Given the description of an element on the screen output the (x, y) to click on. 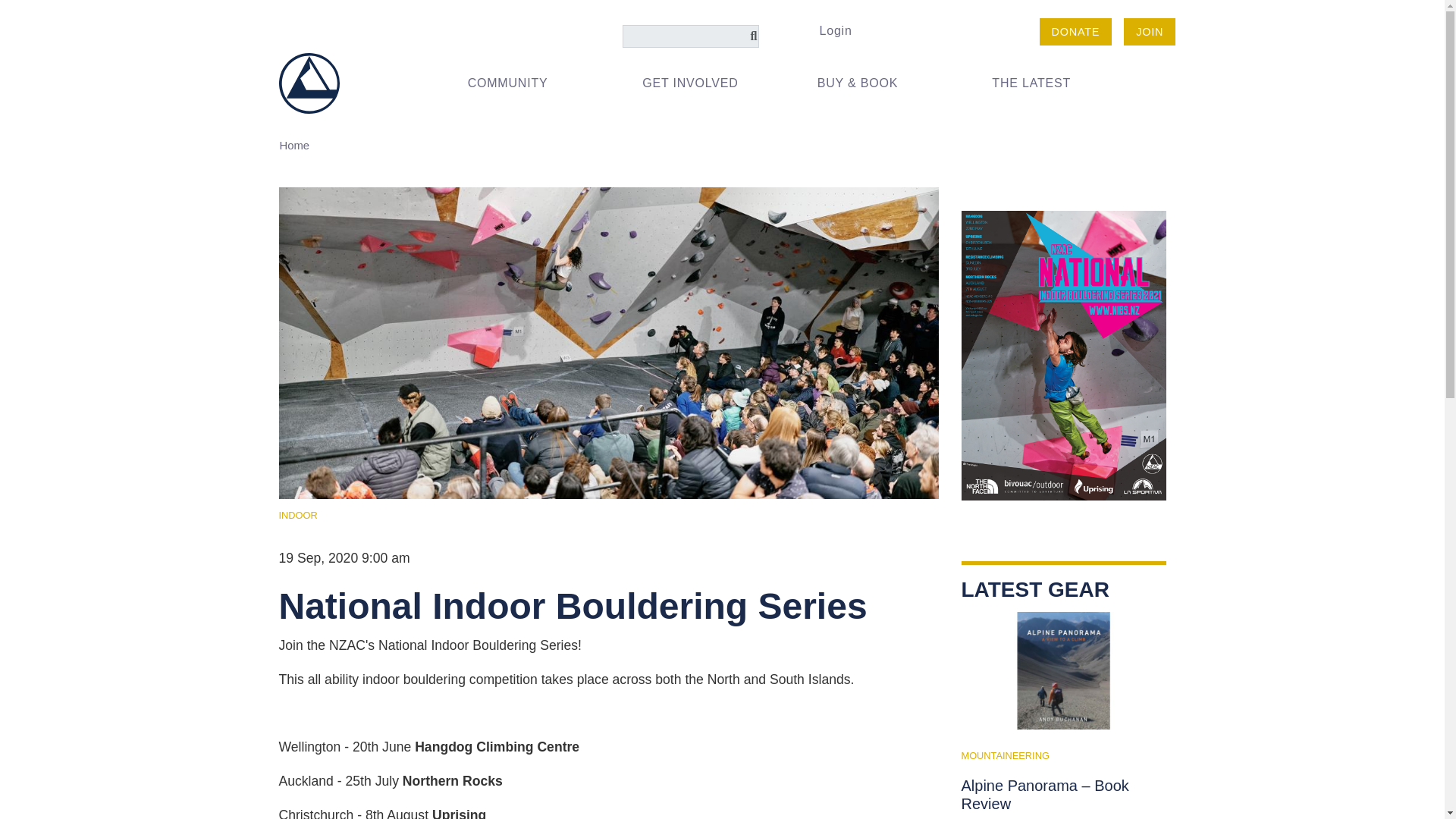
COMMUNITY (522, 82)
Alpine Panorama (1063, 669)
THE LATEST (1045, 82)
Everything you need to know about NZAC and its activities (522, 82)
Login (834, 30)
nzac-logo-header (309, 83)
nzac-logo-header (309, 82)
Skip to main content (721, 16)
